Given the description of an element on the screen output the (x, y) to click on. 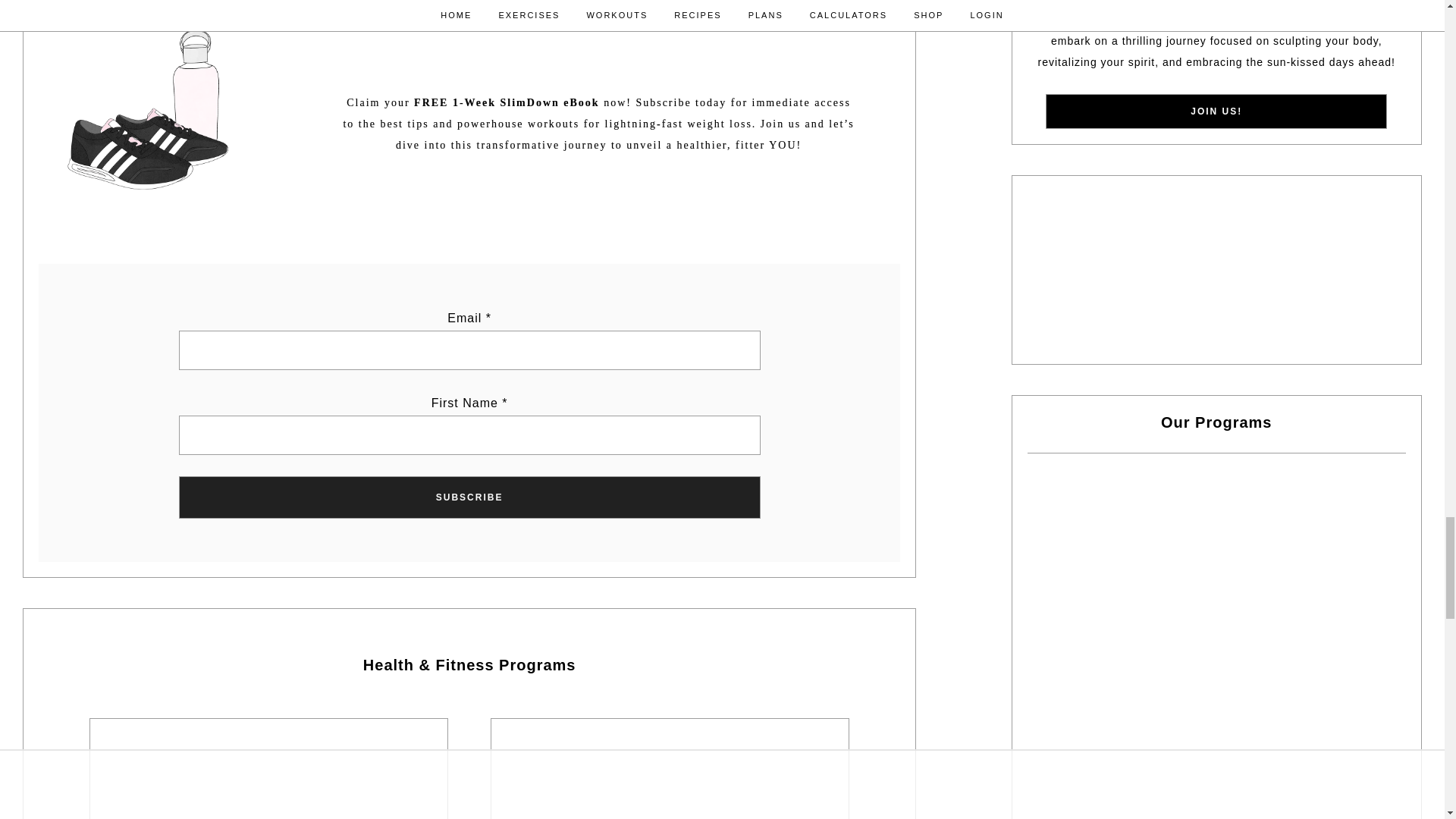
Subscribe (469, 496)
